Given the description of an element on the screen output the (x, y) to click on. 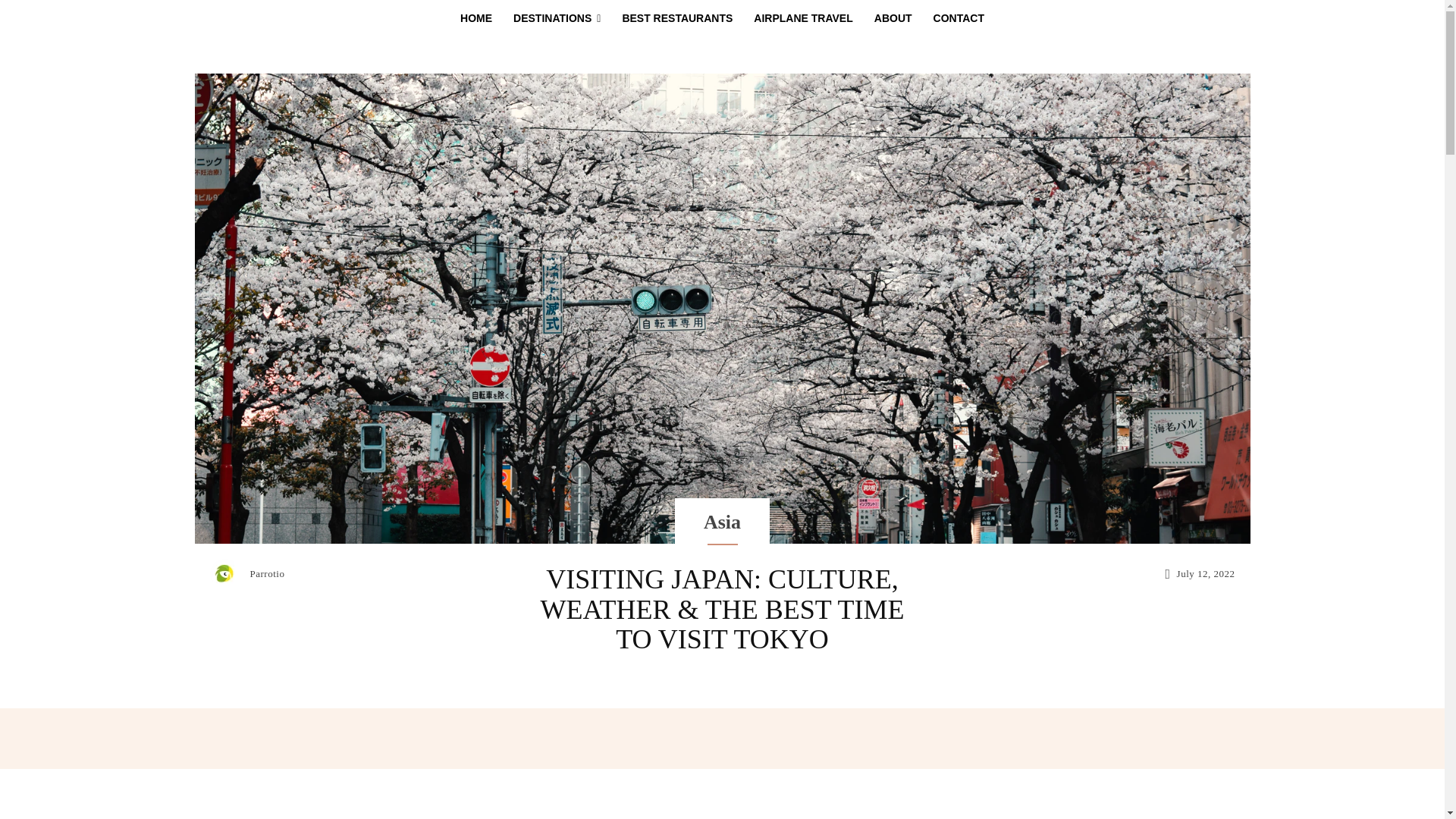
DESTINATIONS (556, 18)
CONTACT (958, 18)
BEST RESTAURANTS (676, 18)
Parrotio (267, 573)
ABOUT (893, 18)
Asia (721, 522)
Parrotio (228, 573)
HOME (475, 18)
AIRPLANE TRAVEL (802, 18)
